Given the description of an element on the screen output the (x, y) to click on. 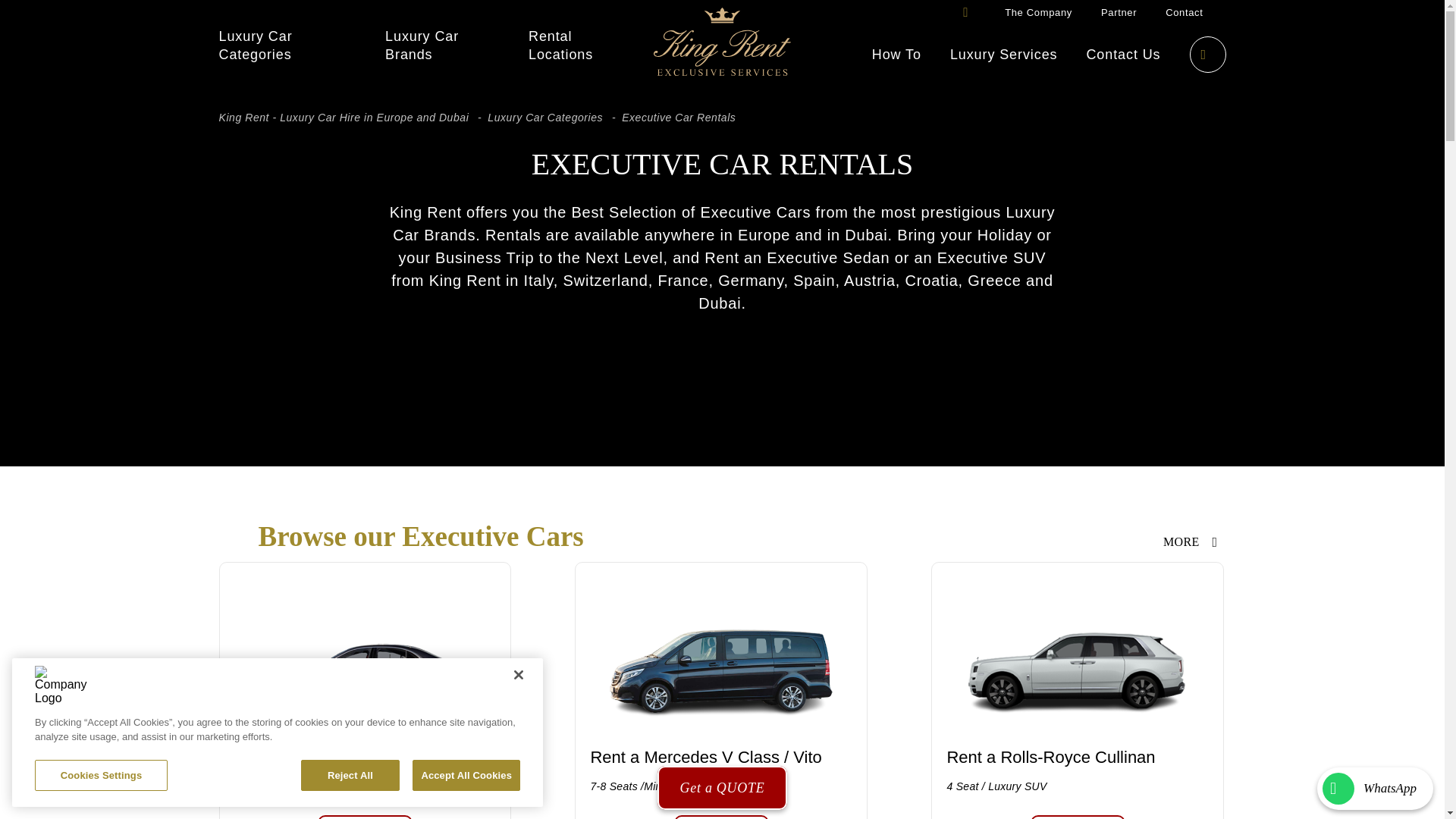
Contact (1184, 11)
How To (896, 54)
How To (896, 54)
MORE (1194, 541)
Partner (1118, 11)
The Company (1037, 11)
Luxury Car Categories (544, 117)
Luxury Car Brands (442, 45)
Contact Us (1123, 54)
Partner (1118, 11)
Contact (1184, 11)
Luxury Services (1004, 54)
Luxury Car Brands (442, 45)
Luxury Services (1004, 54)
Luxury Car Categories (287, 45)
